Given the description of an element on the screen output the (x, y) to click on. 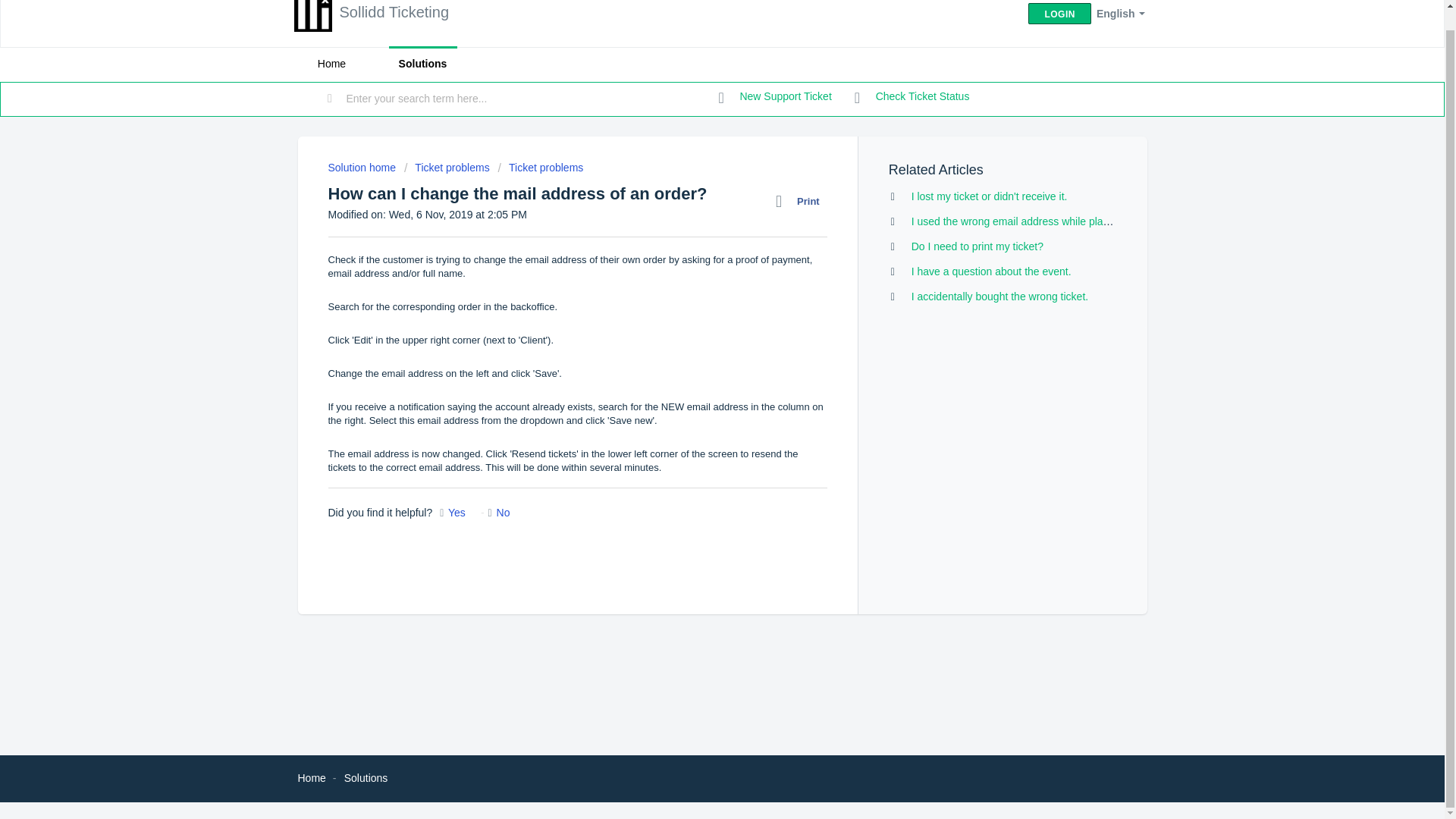
Home (310, 777)
Ticket problems (540, 167)
Home (331, 63)
New Support Ticket (775, 96)
I have a question about the event. (991, 271)
Do I need to print my ticket? (977, 246)
Check Ticket Status (911, 96)
Solutions (365, 777)
Print this Article (801, 201)
Ticket problems (446, 167)
I accidentally bought the wrong ticket. (999, 296)
LOGIN (1058, 13)
Solution home (362, 167)
New support ticket (775, 96)
Check ticket status (911, 96)
